Given the description of an element on the screen output the (x, y) to click on. 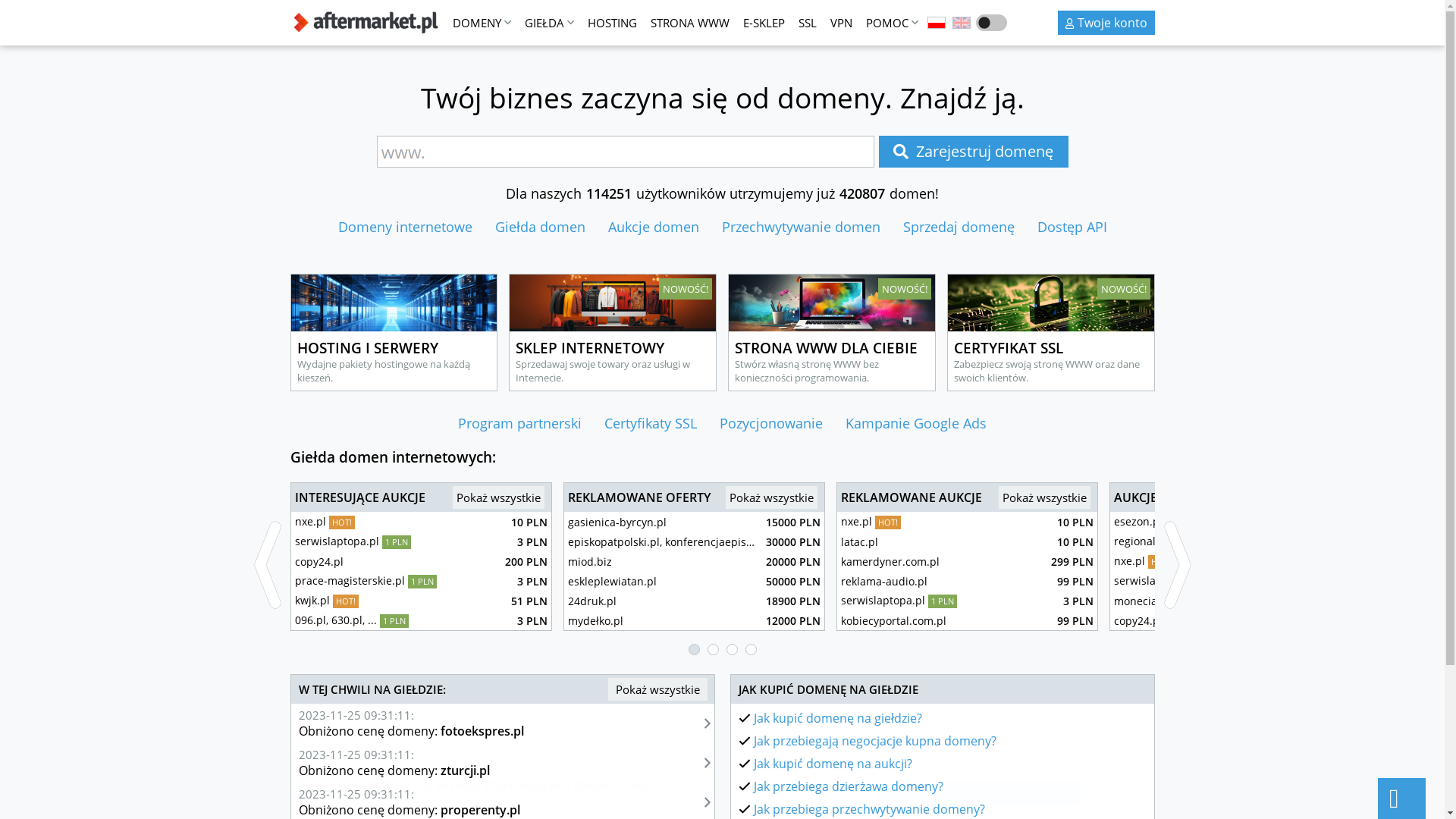
Przechwytywanie domen Element type: text (841, 453)
Aukcje domen Element type: text (716, 453)
